Given the description of an element on the screen output the (x, y) to click on. 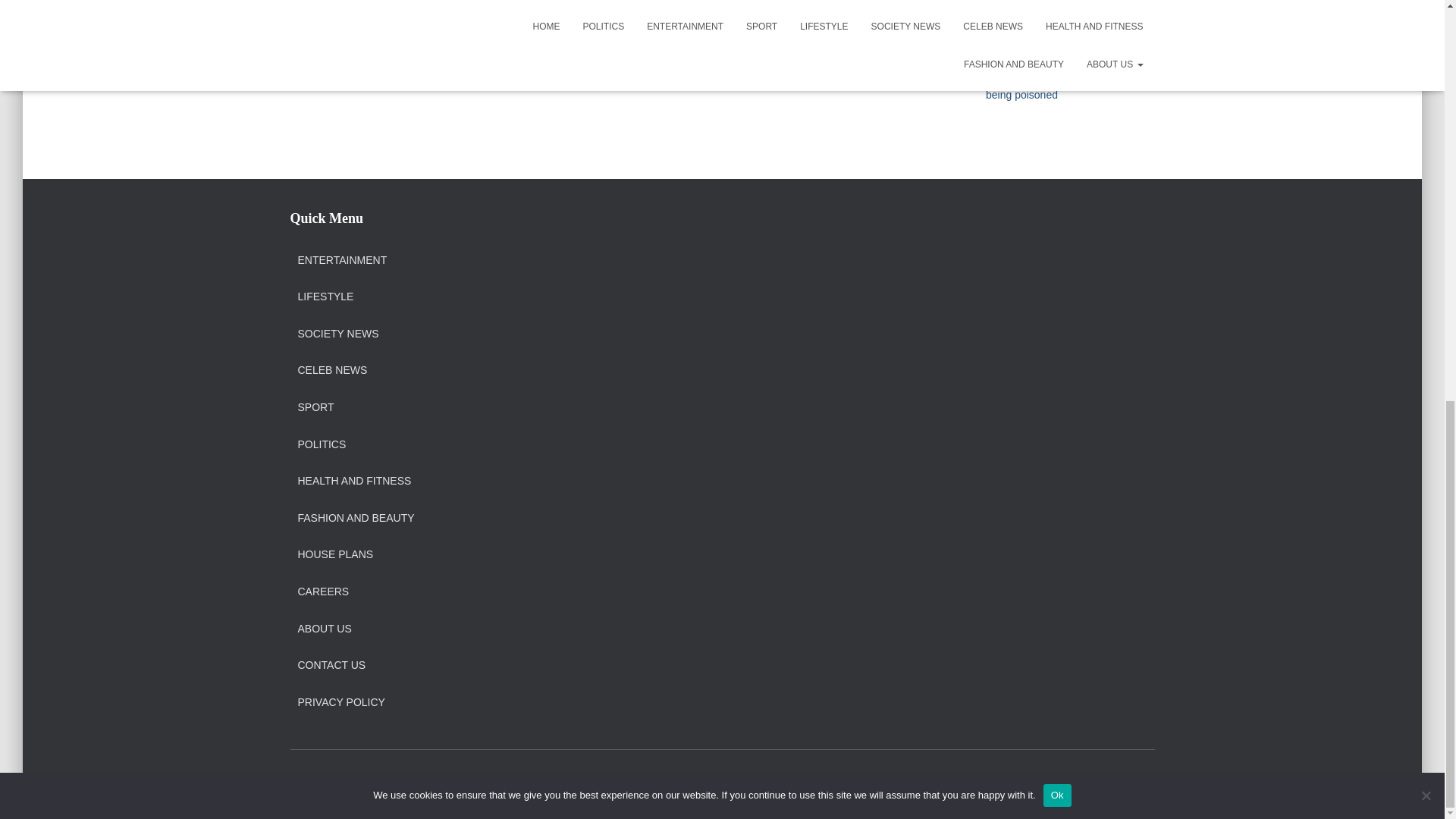
SOCIETY NEWS (337, 334)
LIFESTYLE (325, 296)
ABOUT US (323, 629)
Marylinn Rapose (1025, 60)
POLITICS (321, 444)
LydaK (999, 15)
CONTACT US (331, 665)
Rethabile Khumalo fighting for her life about being poisoned (1064, 76)
CAREERS (323, 592)
No (1425, 8)
SPORT (315, 408)
ABOUT US (323, 783)
HOUSE PLANS (334, 554)
HEALTH AND FITNESS (353, 481)
CELEB NEWS (331, 370)
